Given the description of an element on the screen output the (x, y) to click on. 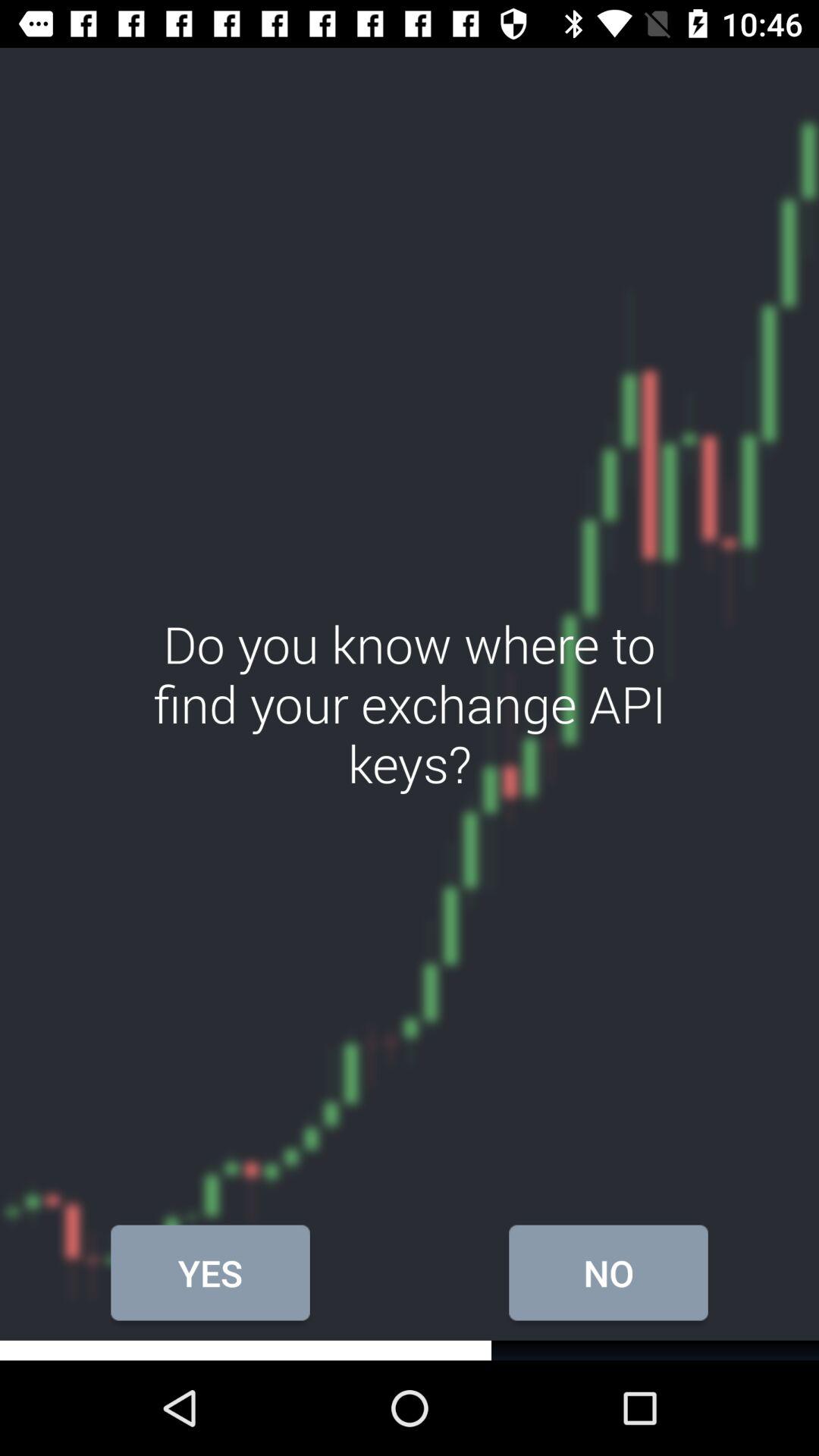
press the icon to the right of the yes item (608, 1272)
